Given the description of an element on the screen output the (x, y) to click on. 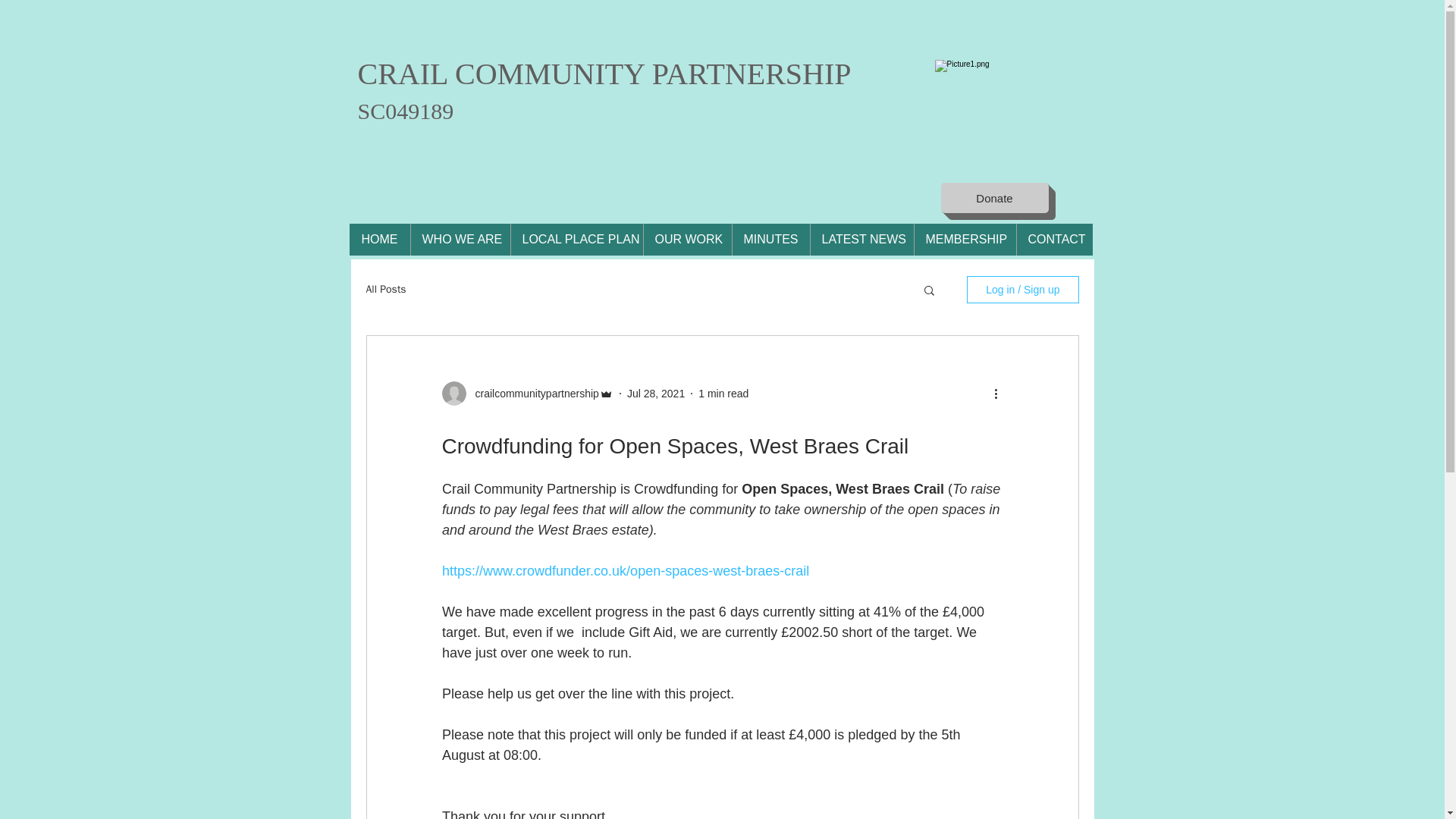
MEMBERSHIP (963, 239)
C (368, 73)
HOME (379, 239)
All Posts (385, 289)
OUR WORK (687, 239)
LATEST NEWS (861, 239)
WHO WE ARE (459, 239)
LOCAL PLACE PLAN (575, 239)
CONTACT (1054, 239)
MINUTES (769, 239)
Jul 28, 2021 (655, 392)
Donate (994, 197)
crailcommunitypartnership (531, 392)
1 min read (723, 392)
